Given the description of an element on the screen output the (x, y) to click on. 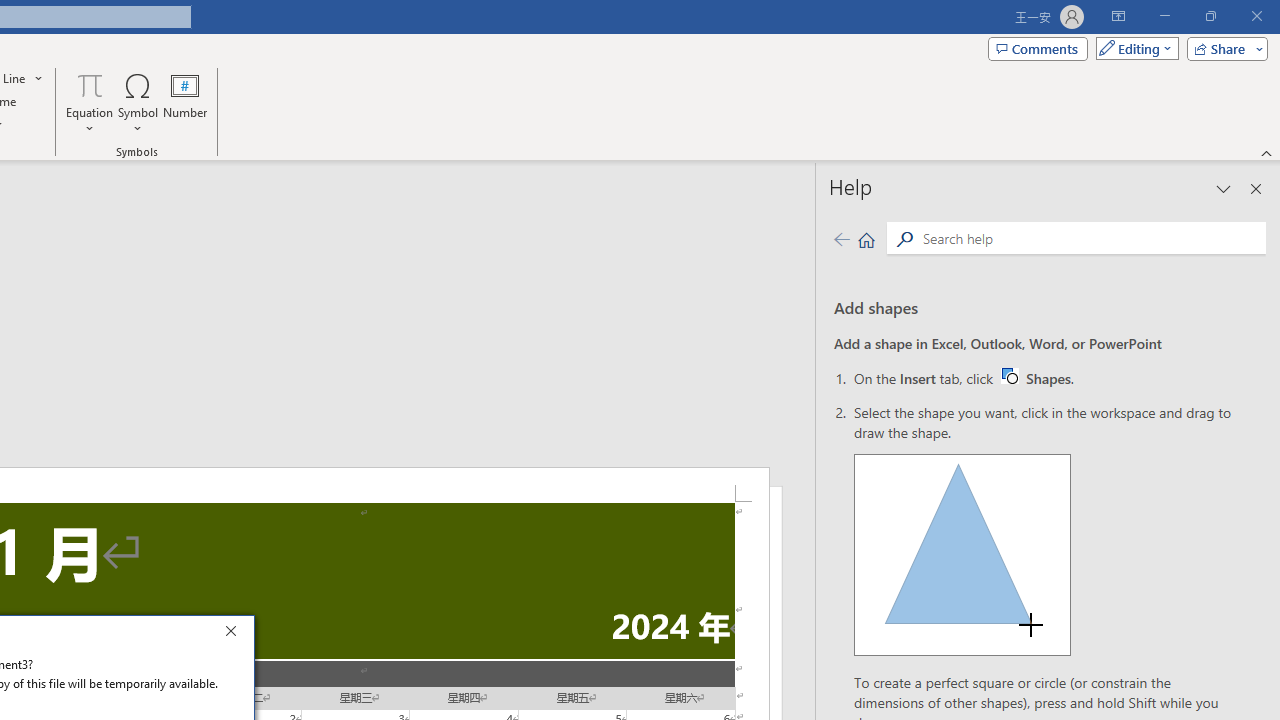
Share (1223, 48)
Collapse the Ribbon (1267, 152)
Equation (90, 84)
Close pane (1256, 188)
Equation (1044, 377)
Number... (90, 102)
Drawing a shape (185, 102)
